Given the description of an element on the screen output the (x, y) to click on. 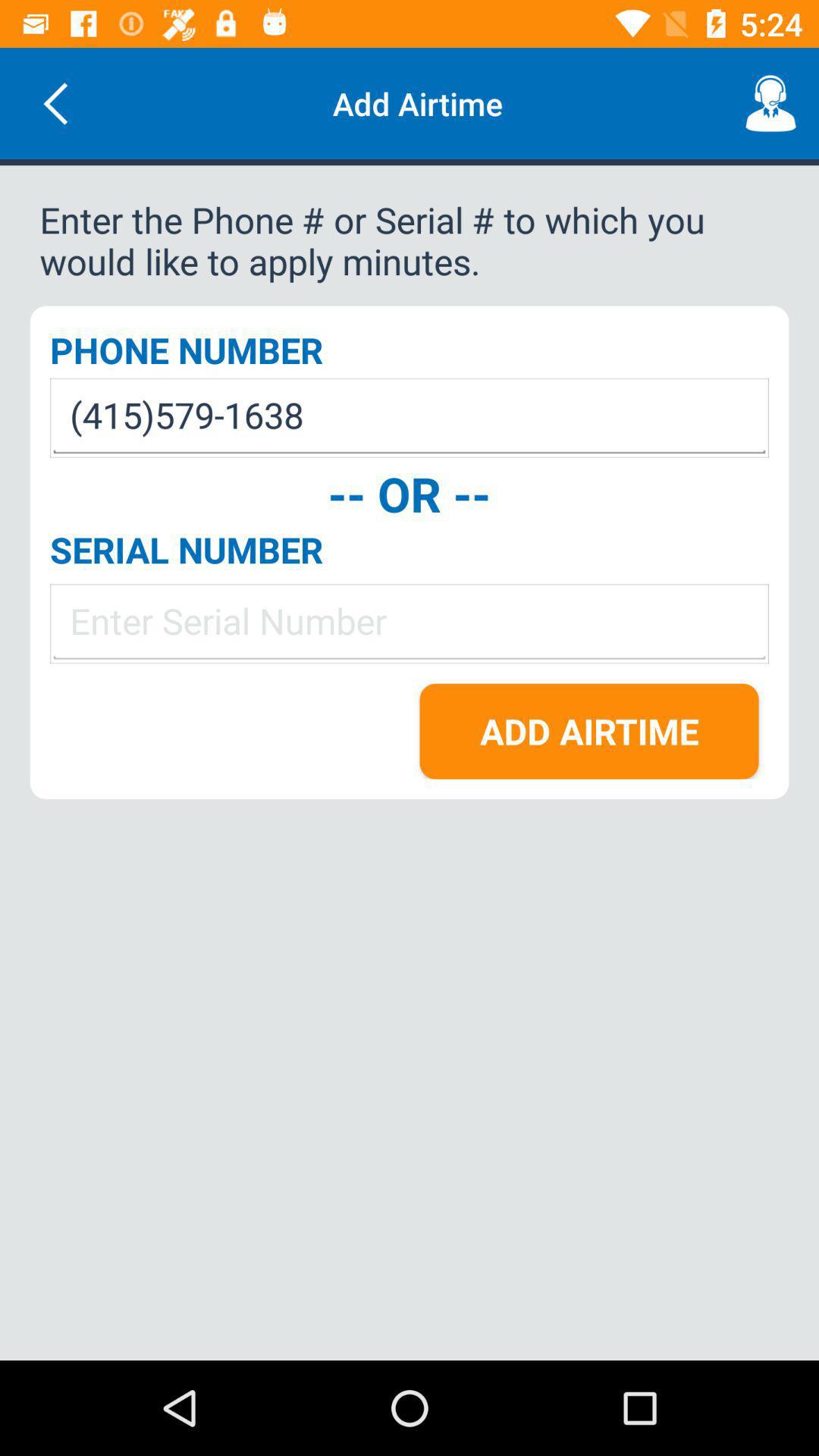
turn off the item below the serial number icon (409, 623)
